Given the description of an element on the screen output the (x, y) to click on. 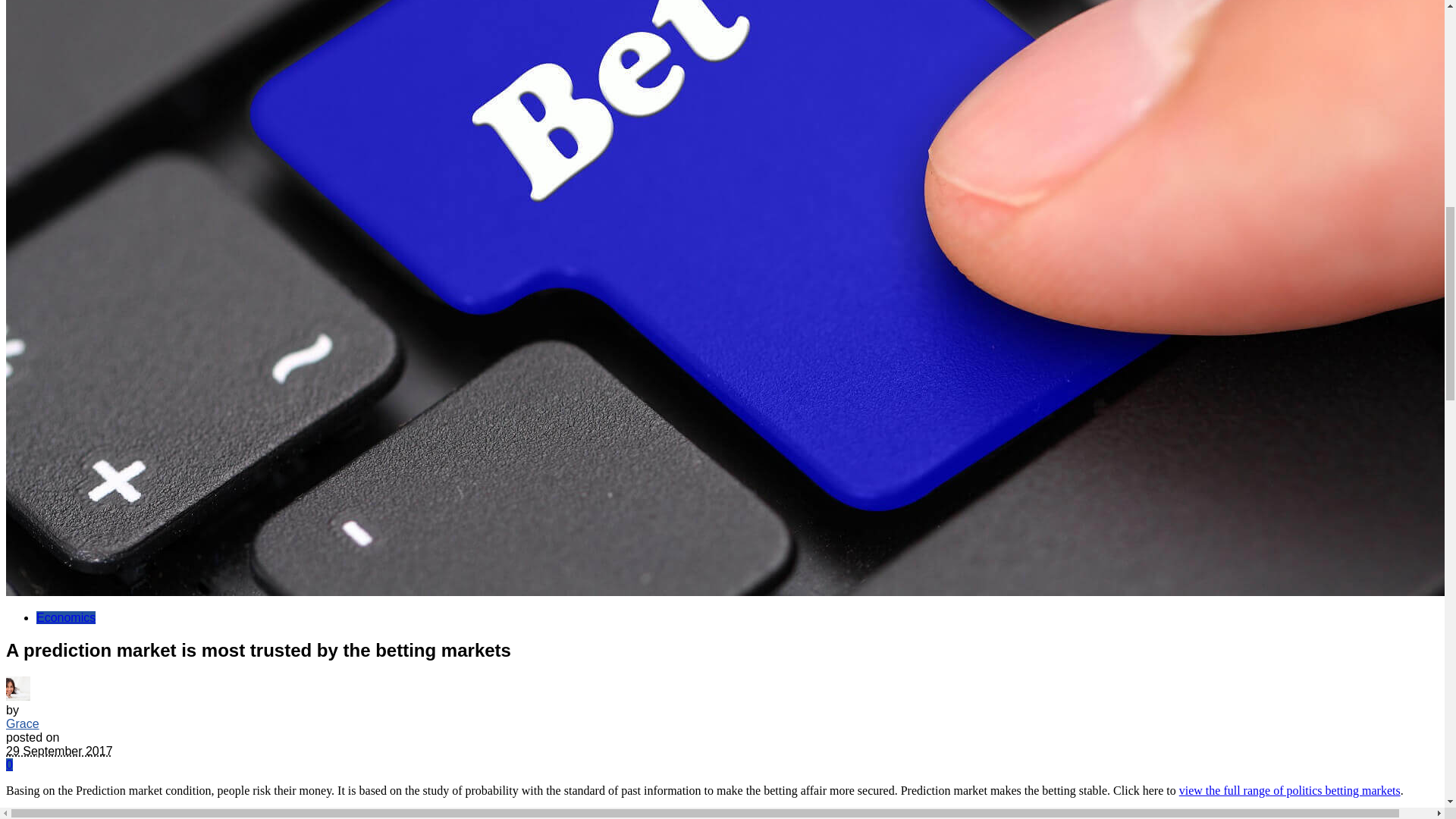
Economics (66, 617)
0 (9, 764)
view the full range of politics betting markets (1289, 789)
Grace (22, 723)
Posts by Grace (22, 723)
View all posts in Economics (66, 617)
29 September 2017 (59, 750)
Comment (9, 764)
